Given the description of an element on the screen output the (x, y) to click on. 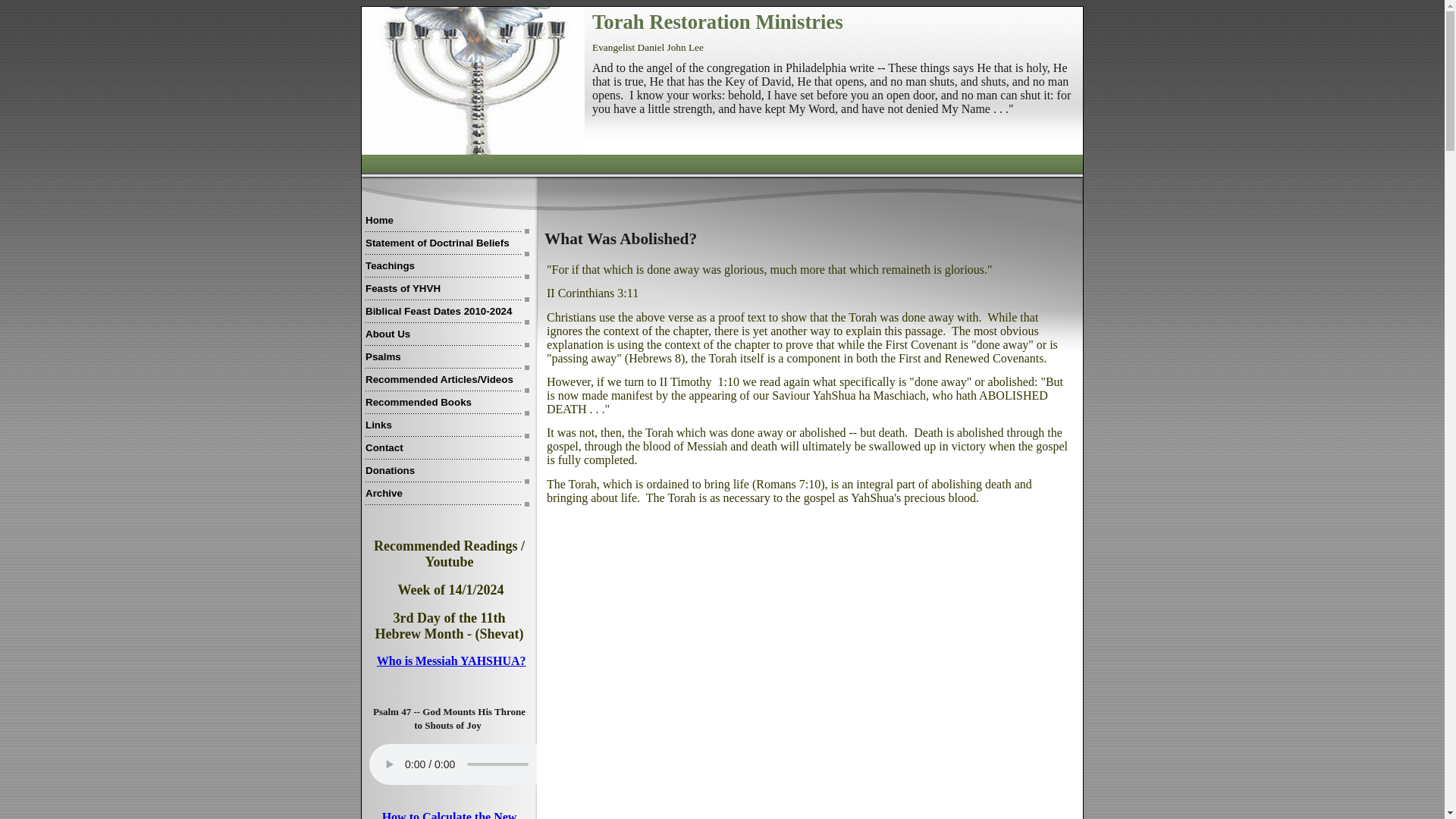
Donations (447, 472)
Biblical Feast Dates 2010-2024 (447, 313)
Statement of Doctrinal Beliefs (447, 244)
How to Calculate the New Moon Each Month (448, 814)
Psalms (447, 358)
Who is Messiah YAHSHUA? (451, 661)
Home (447, 221)
Archive (447, 495)
Contact (447, 449)
Feasts of YHVH (447, 290)
